Given the description of an element on the screen output the (x, y) to click on. 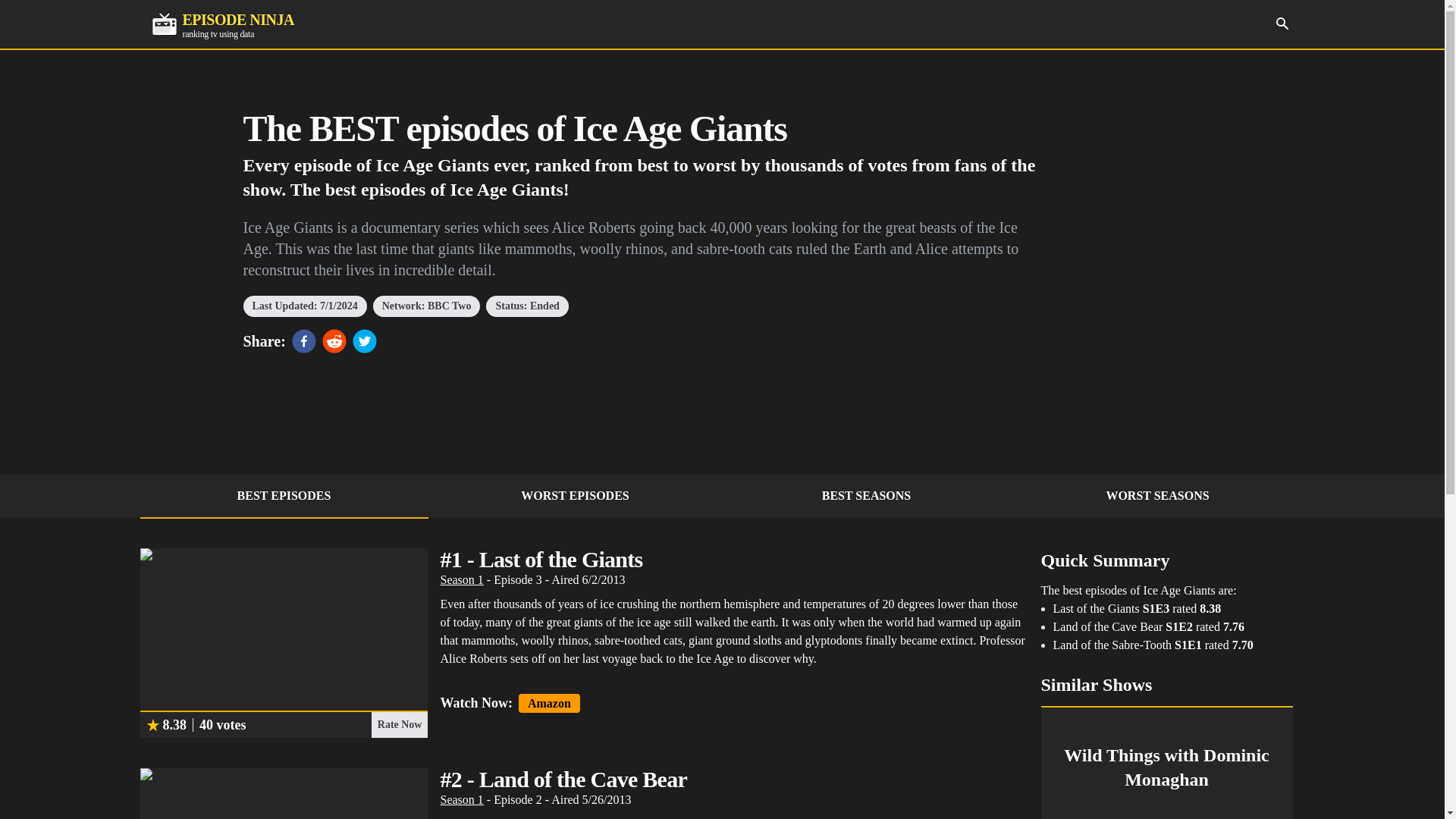
Season 1 (461, 579)
WORST EPISODES (574, 495)
BEST SEASONS (222, 24)
Search (866, 495)
Network: BBC Two (1281, 22)
Wild Things with Dominic Monaghan (426, 305)
BEST EPISODES (1166, 762)
Rate Now (283, 496)
Amazon (399, 724)
